Given the description of an element on the screen output the (x, y) to click on. 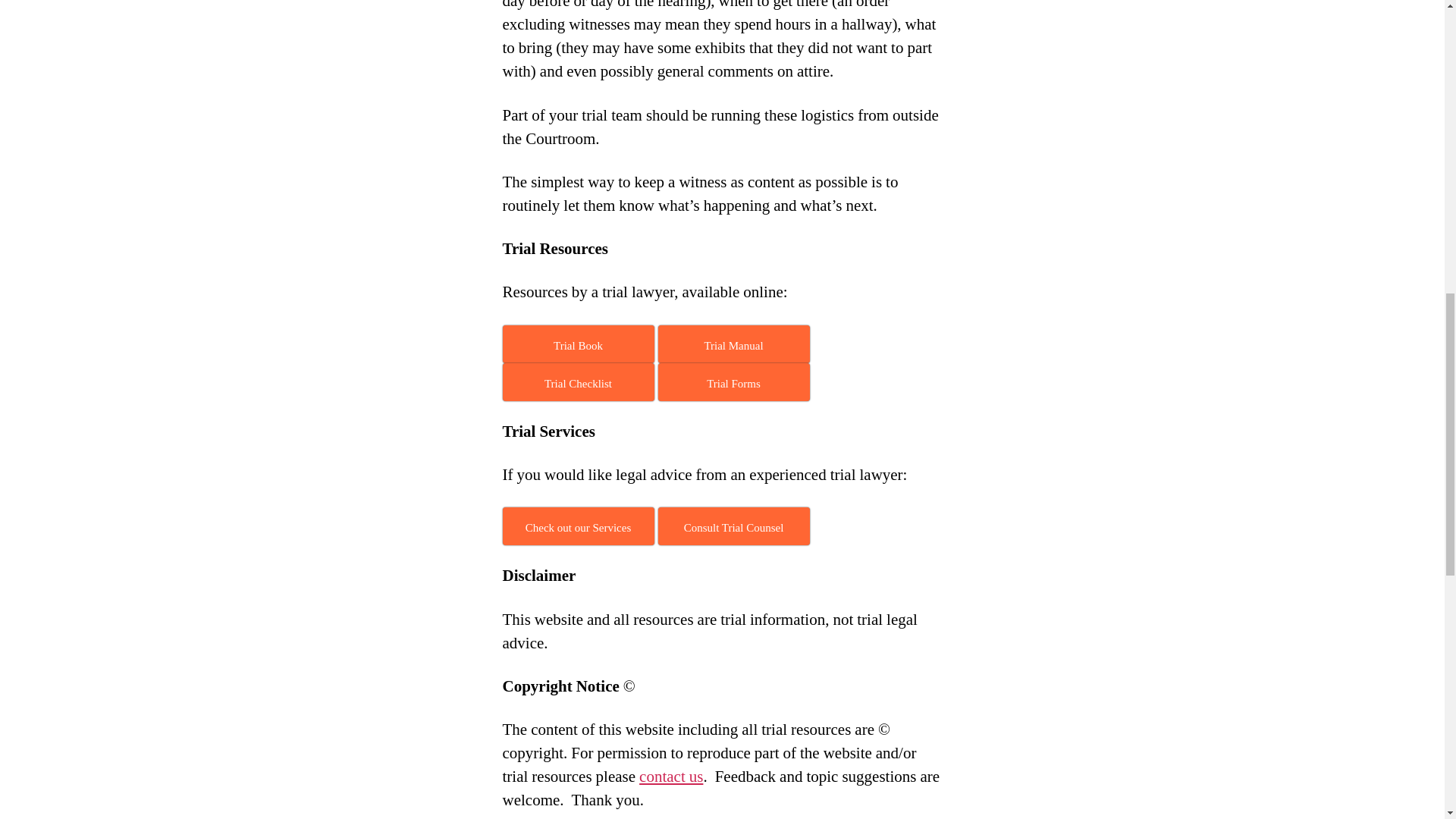
contact us (671, 776)
Consult Trial Counsel (733, 525)
Check out our Services (577, 525)
Trial Book (577, 344)
Trial Checklist (577, 382)
Trial Forms (733, 382)
Trial Manual (733, 344)
